Given the description of an element on the screen output the (x, y) to click on. 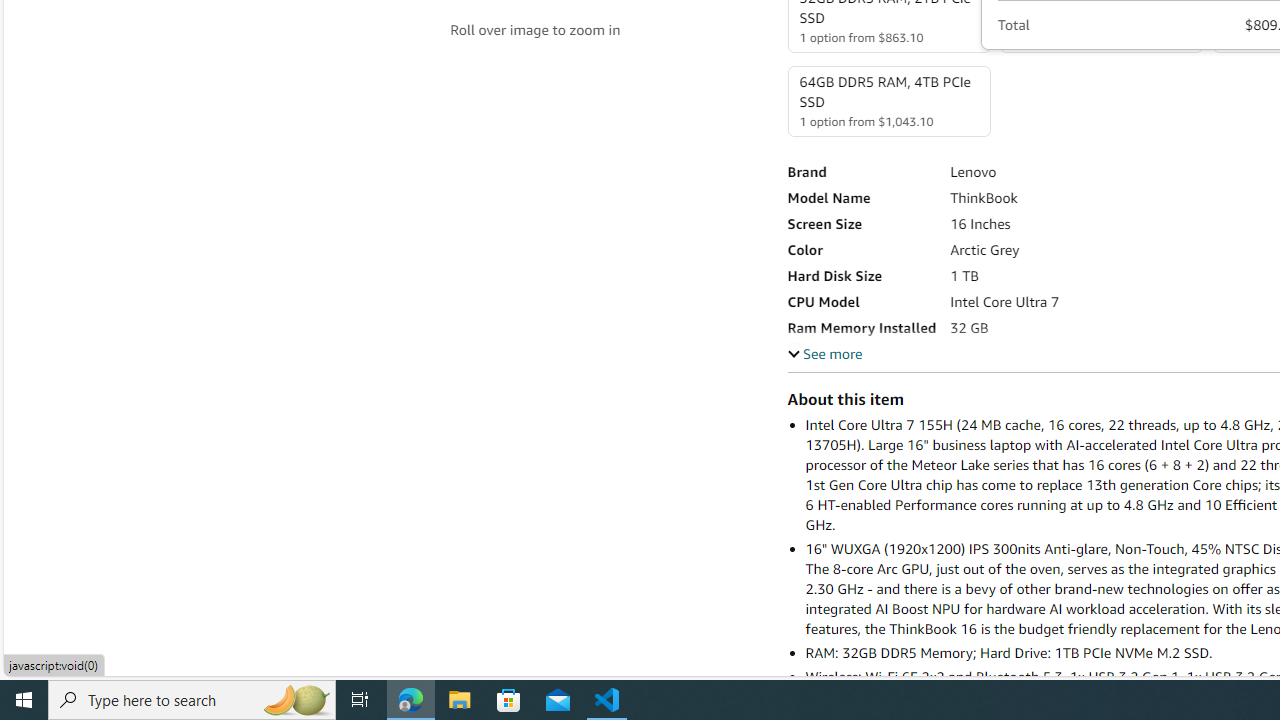
64GB DDR5 RAM, 4TB PCIe SSD 1 option from $1,043.10 (888, 101)
